Given the description of an element on the screen output the (x, y) to click on. 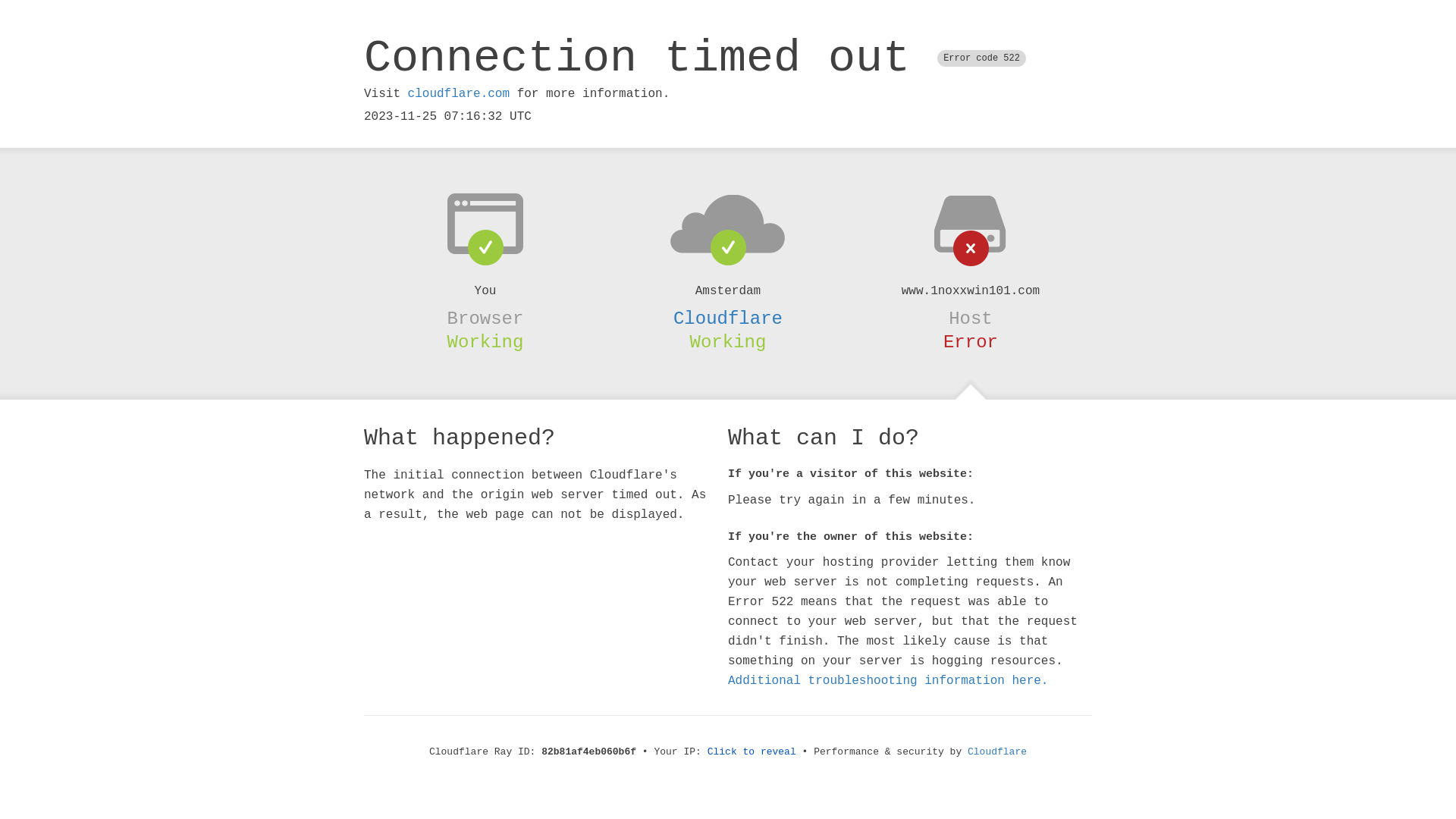
Additional troubleshooting information here. Element type: text (888, 680)
Cloudflare Element type: text (727, 318)
cloudflare.com Element type: text (458, 93)
Click to reveal Element type: text (751, 751)
Cloudflare Element type: text (996, 751)
